Given the description of an element on the screen output the (x, y) to click on. 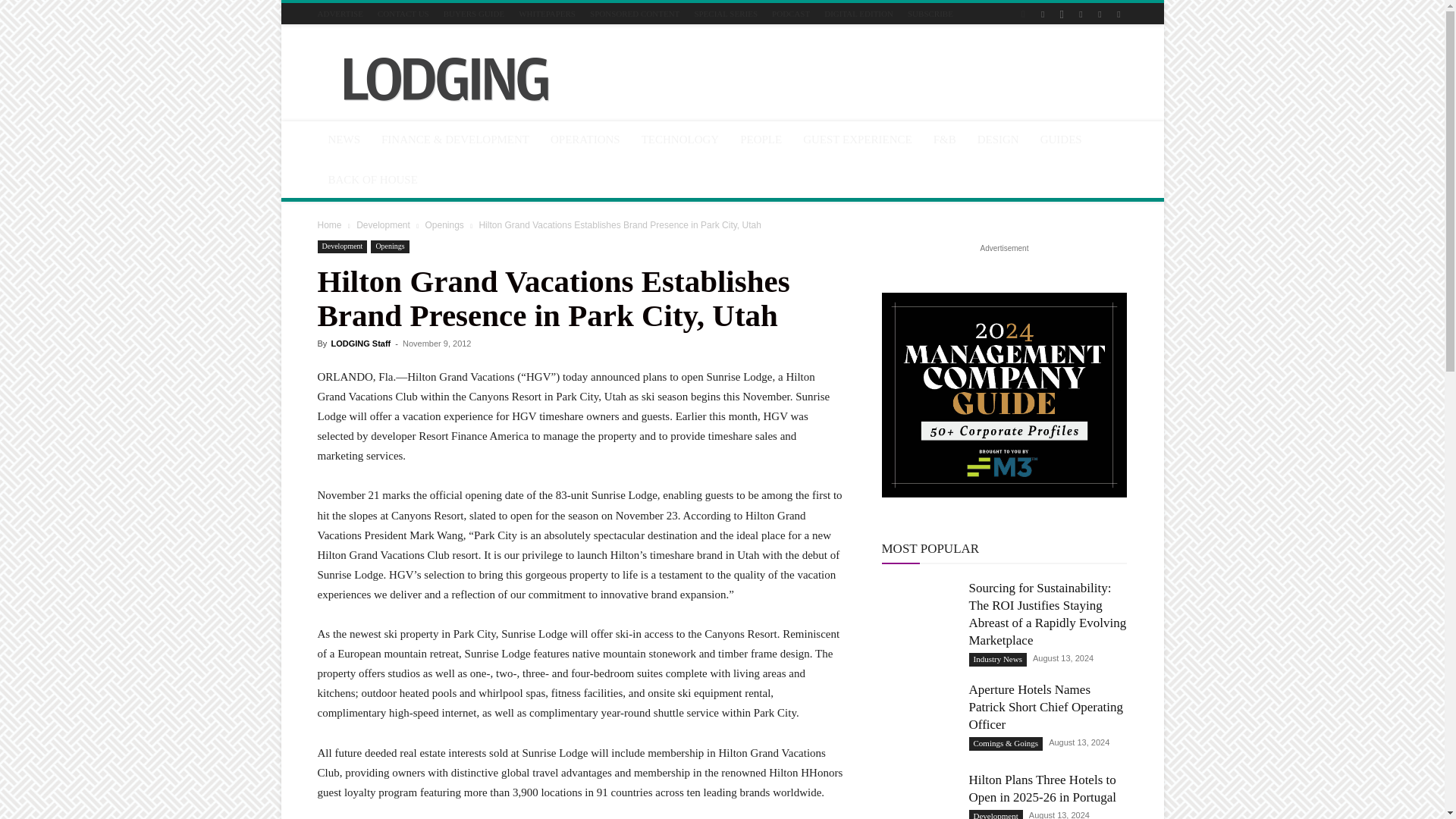
WHITEPAPERS (546, 13)
Search (1085, 67)
BUYERS GUIDE (473, 13)
SPECIAL SERIES (725, 13)
DIGITAL EDITION (858, 13)
ADVERTISE (339, 13)
CONTACT US (403, 13)
View all posts in Development (383, 225)
SPONSORED CONTENT (634, 13)
View all posts in Openings (444, 225)
